Given the description of an element on the screen output the (x, y) to click on. 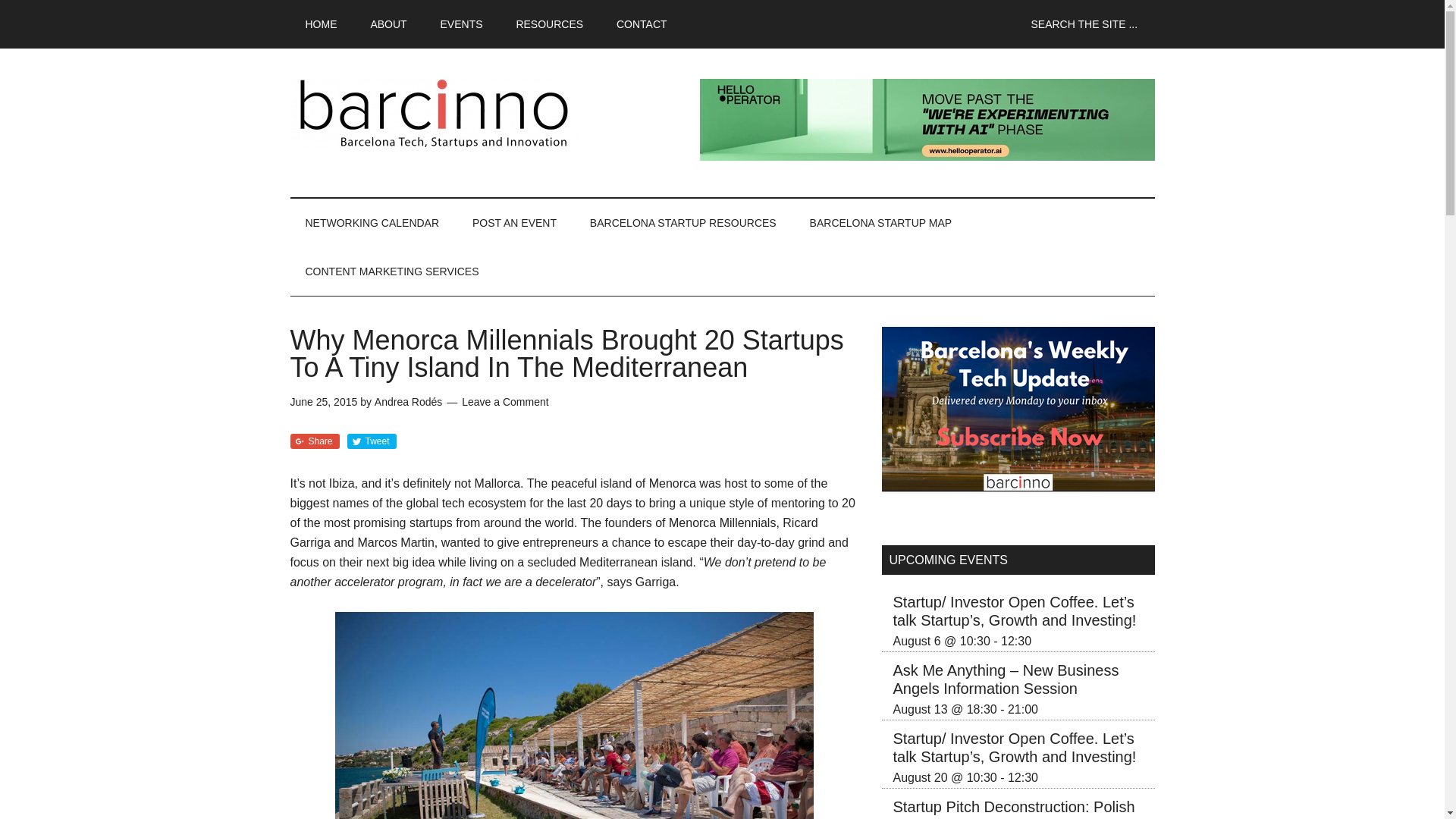
HOME (320, 24)
Barcinno (433, 112)
POST AN EVENT (514, 223)
BARCELONA STARTUP RESOURCES (683, 223)
BARCELONA STARTUP MAP (881, 223)
ABOUT (388, 24)
CONTACT (641, 24)
Leave a Comment (504, 401)
